Given the description of an element on the screen output the (x, y) to click on. 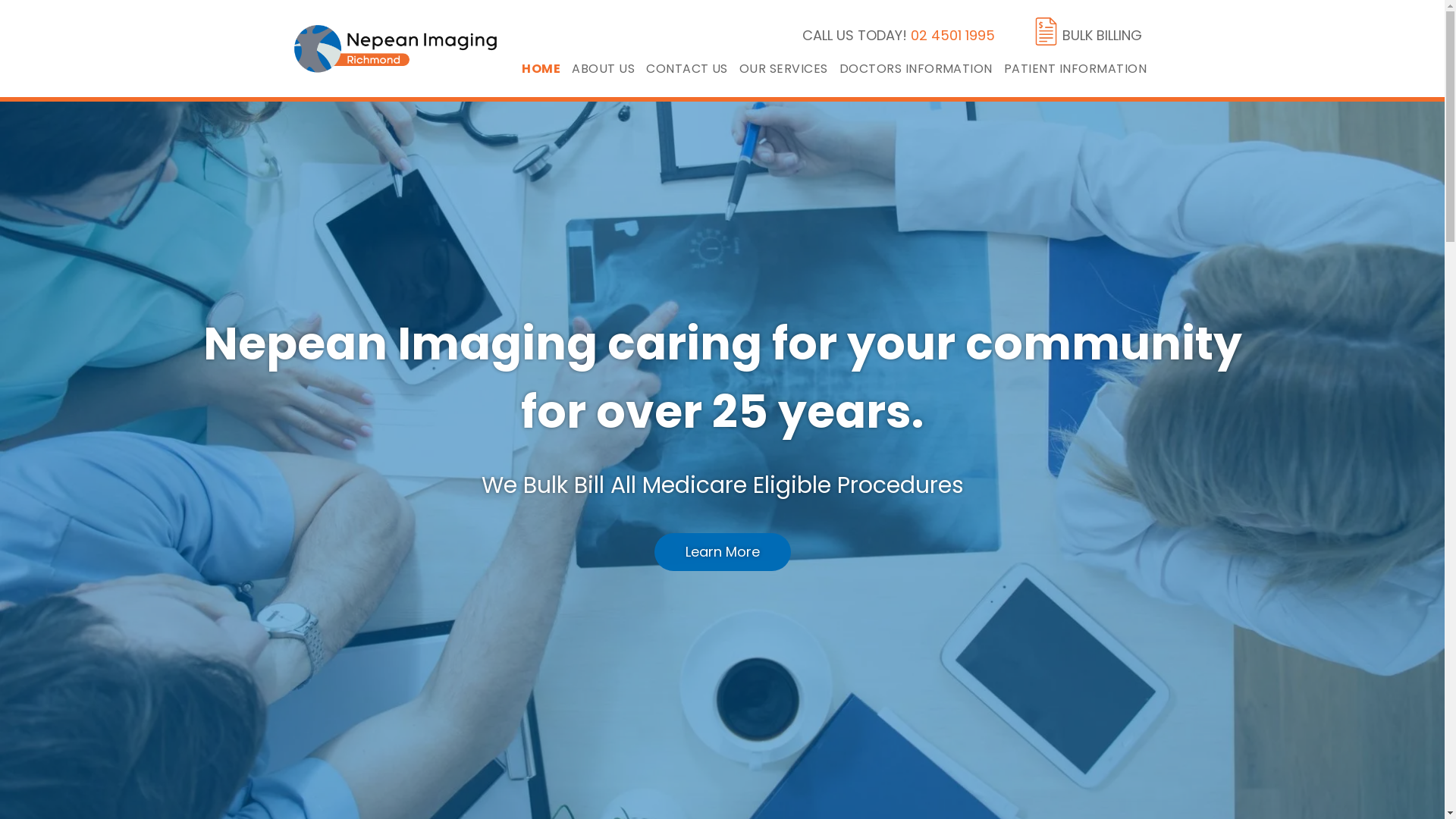
CONTACT US Element type: text (692, 68)
PATIENT INFORMATION Element type: text (1080, 68)
HOME Element type: text (546, 68)
ABOUT US Element type: text (608, 68)
02 4501 1995 Element type: text (952, 34)
DOCTORS INFORMATION Element type: text (921, 68)
OUR SERVICES Element type: text (789, 68)
